Given the description of an element on the screen output the (x, y) to click on. 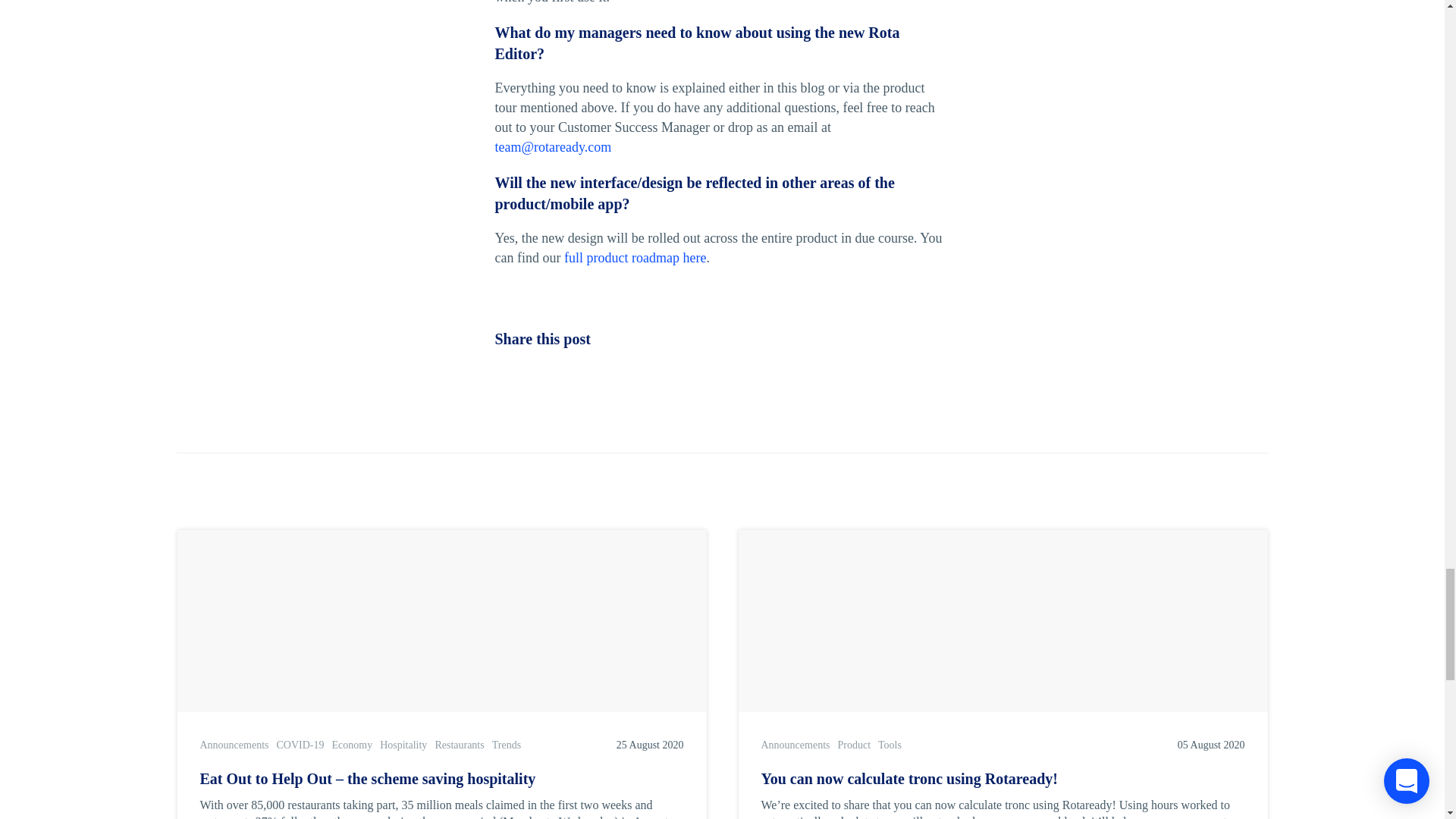
Restaurants (458, 744)
full product roadmap here (635, 257)
Tools (889, 744)
COVID-19 (299, 744)
Announcements (234, 744)
Trends (506, 744)
Product (853, 744)
Economy (351, 744)
You can now calculate tronc using Rotaready! (1002, 778)
Hospitality (403, 744)
Announcements (795, 744)
